Given the description of an element on the screen output the (x, y) to click on. 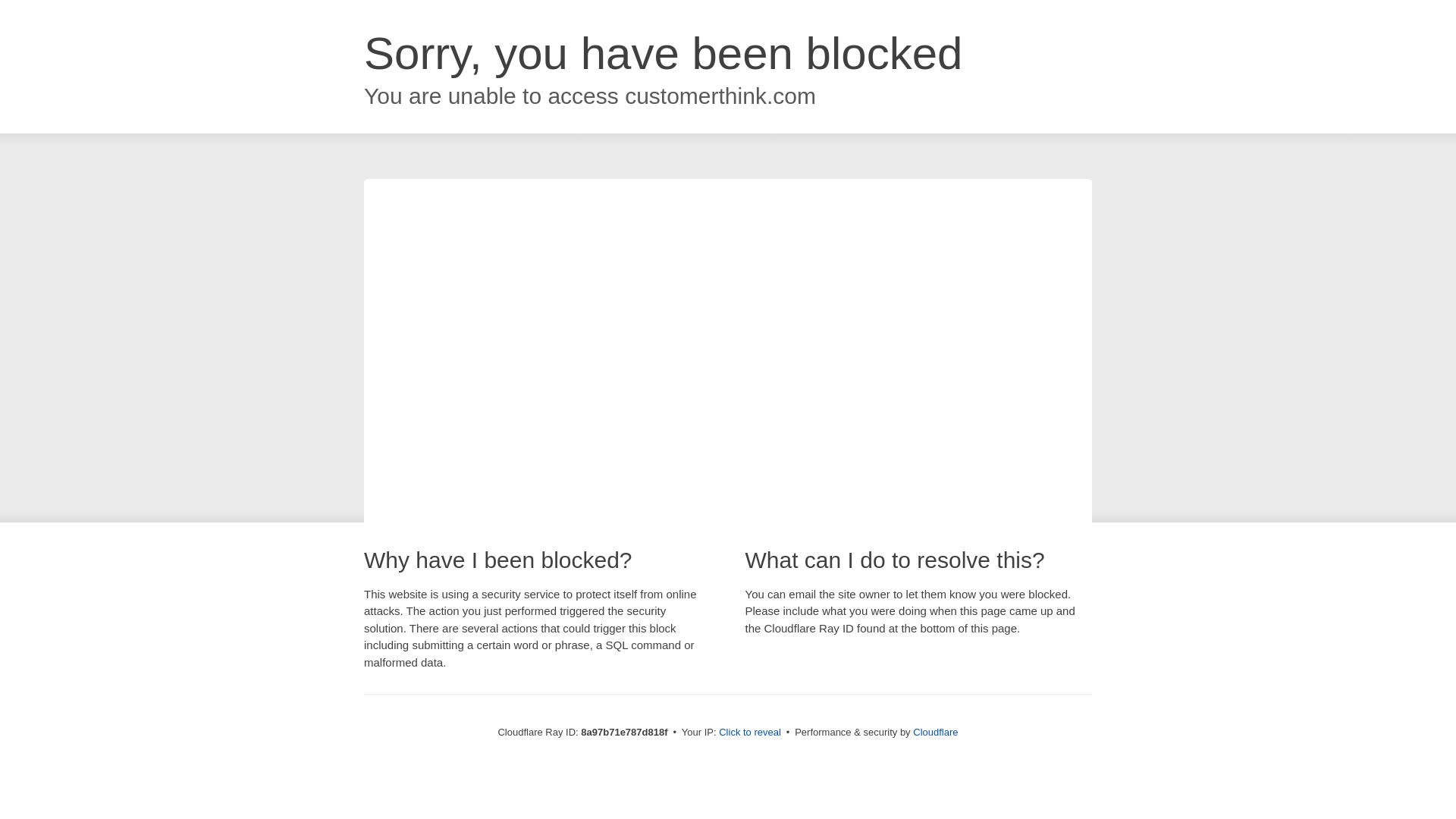
Cloudflare (935, 731)
Click to reveal (749, 732)
